Given the description of an element on the screen output the (x, y) to click on. 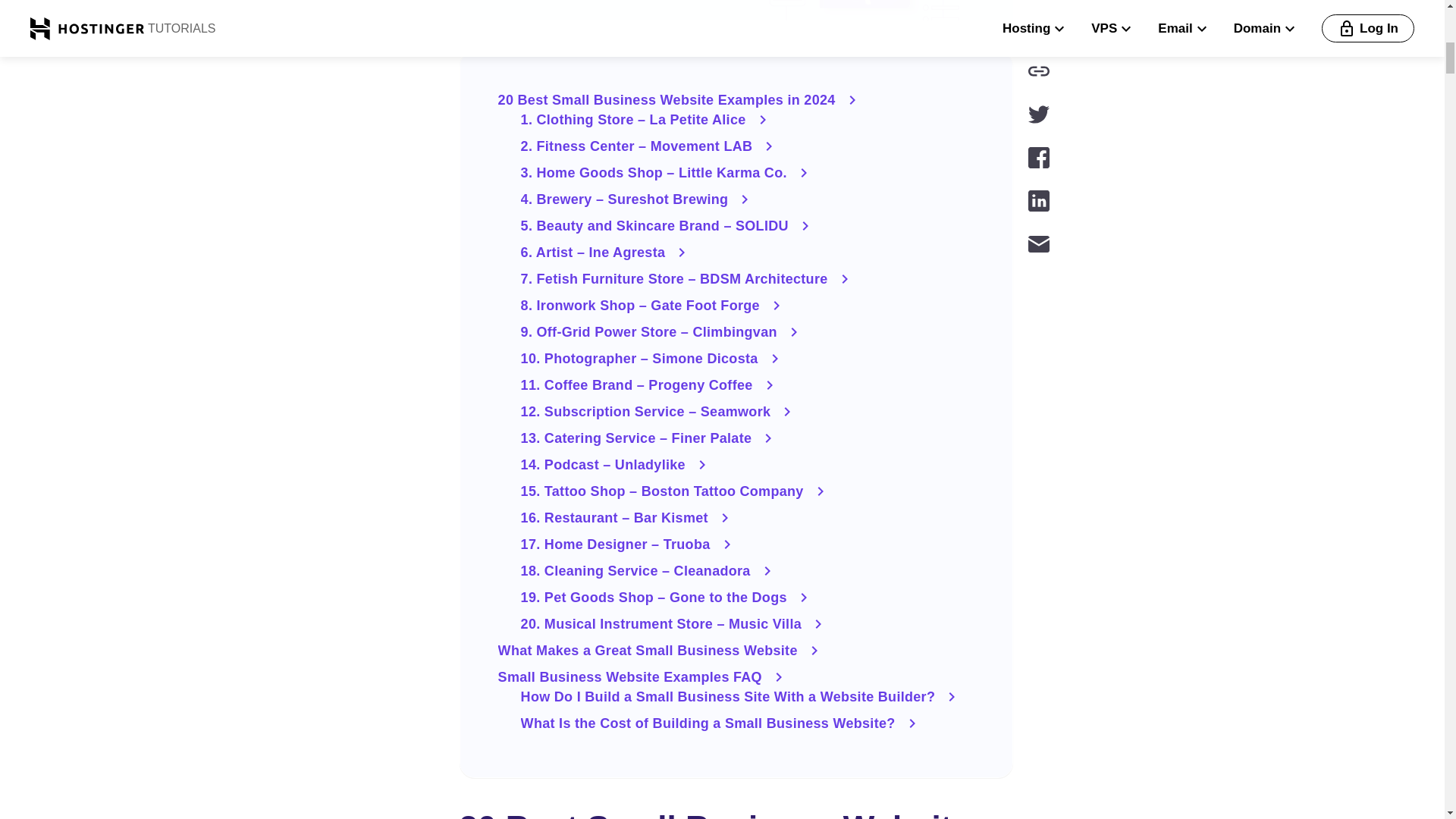
20 Best Small Business Website Examples in 2024 (735, 99)
20 Best Small Business Website Examples in 2024 (735, 99)
